Given the description of an element on the screen output the (x, y) to click on. 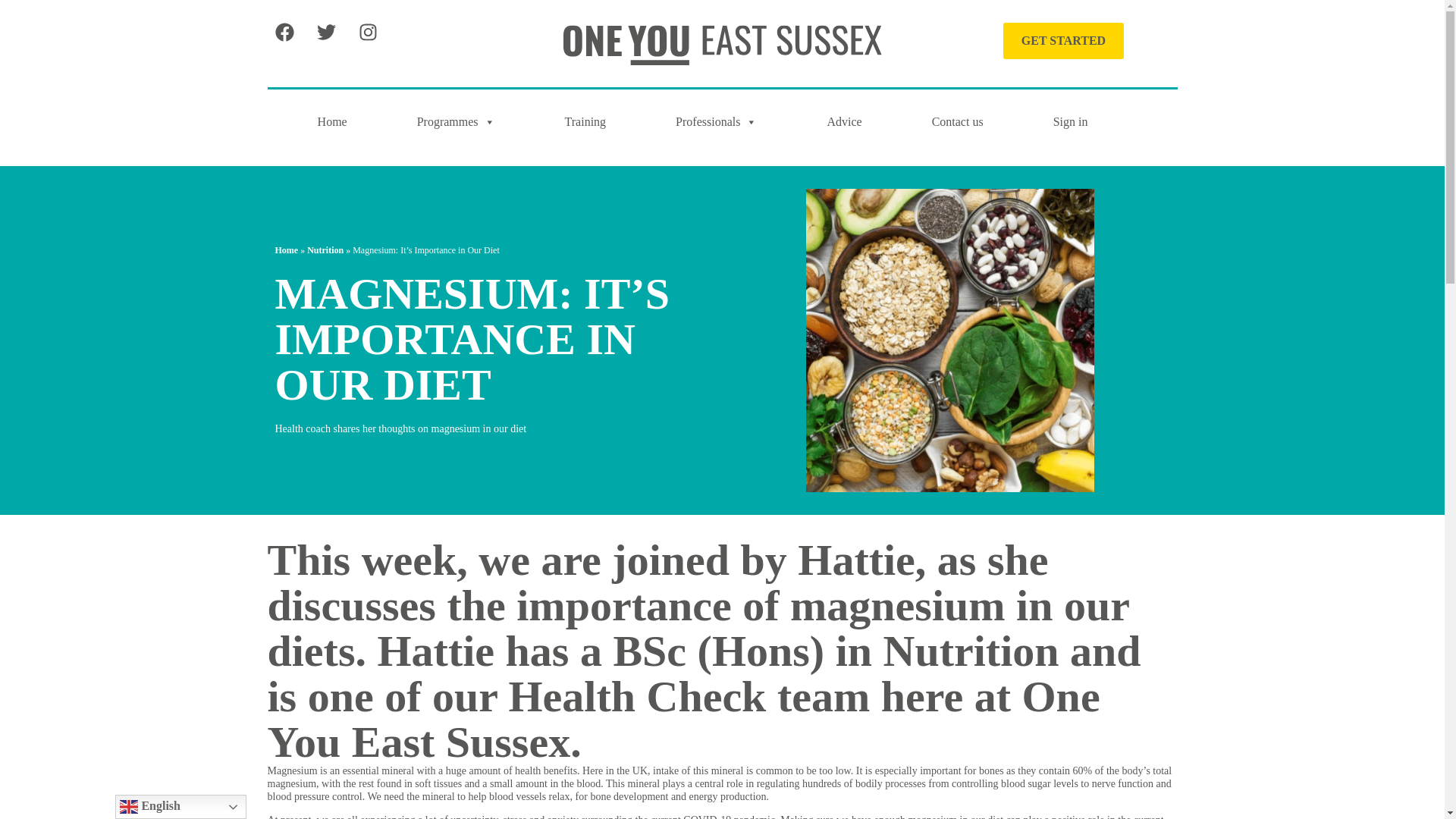
Professionals (716, 121)
Programmes (456, 121)
Home (332, 121)
Training (585, 121)
Contact us (957, 121)
Sign in (1070, 121)
Advice (843, 121)
GET STARTED (1063, 40)
